Given the description of an element on the screen output the (x, y) to click on. 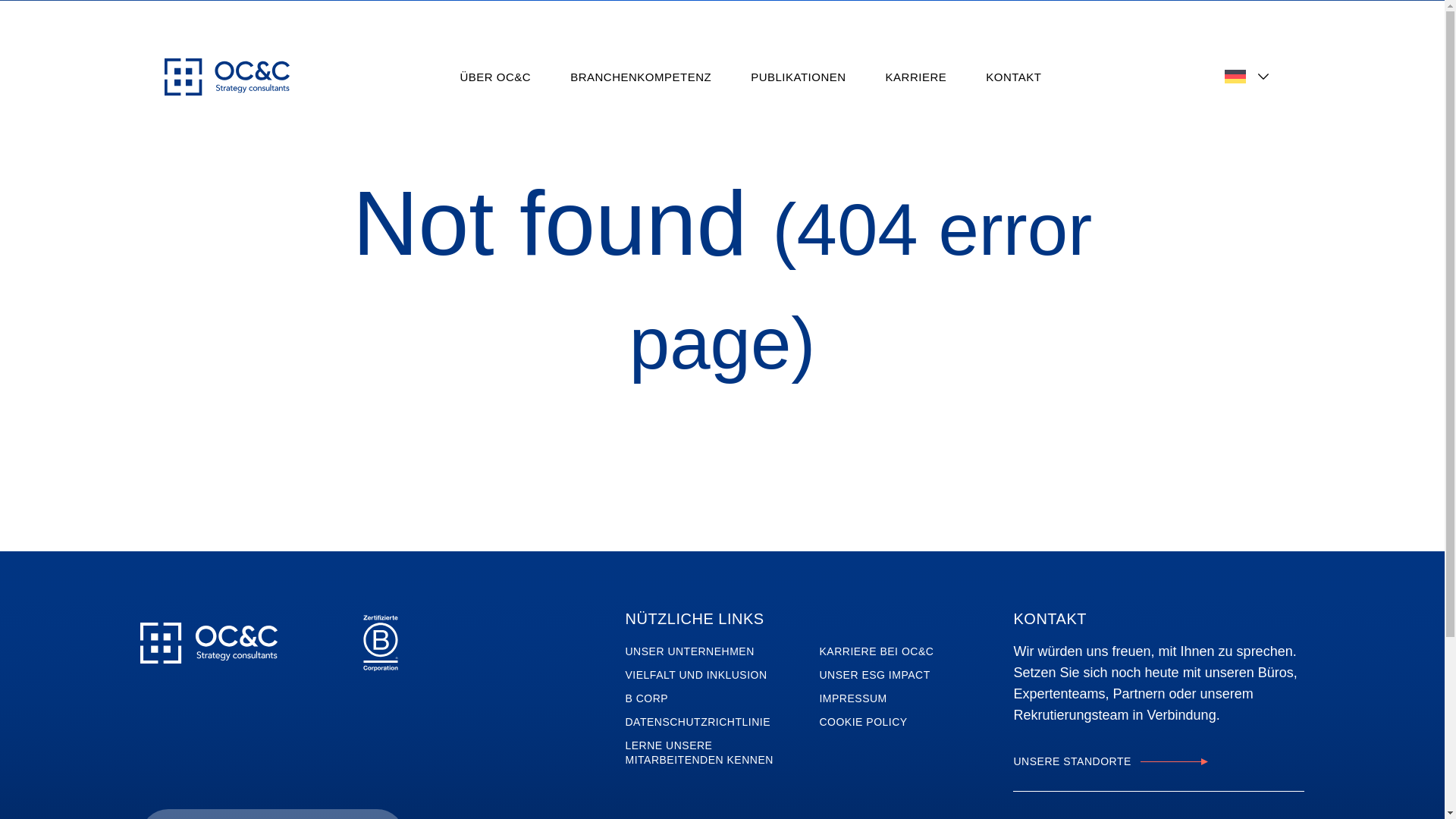
PUBLIKATIONEN (797, 76)
BRANCHENKOMPETENZ (640, 76)
Suche (367, 814)
KARRIERE (916, 76)
Suche (367, 814)
KONTAKT (1013, 76)
